Given the description of an element on the screen output the (x, y) to click on. 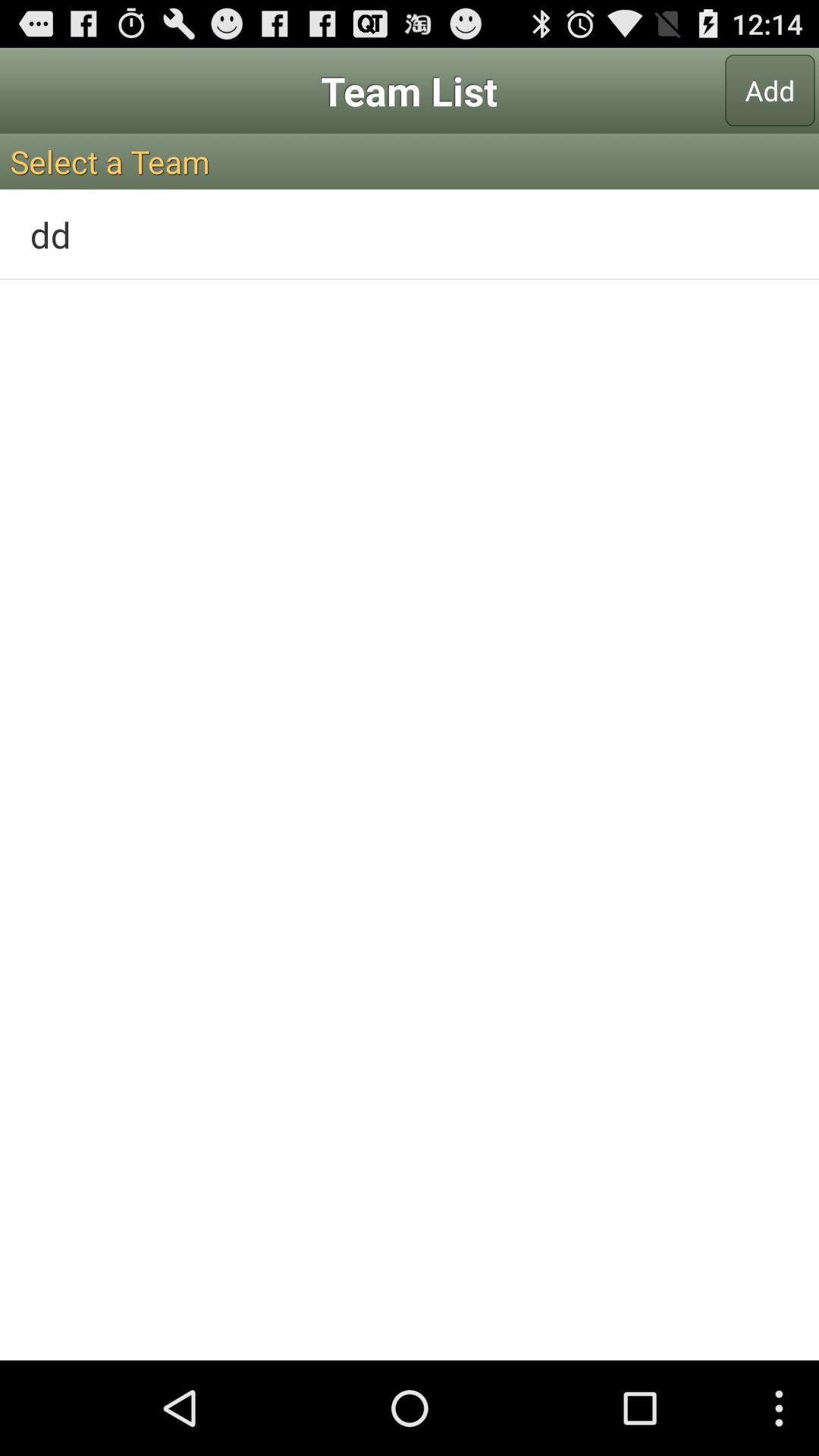
turn off the app next to team list app (770, 90)
